Given the description of an element on the screen output the (x, y) to click on. 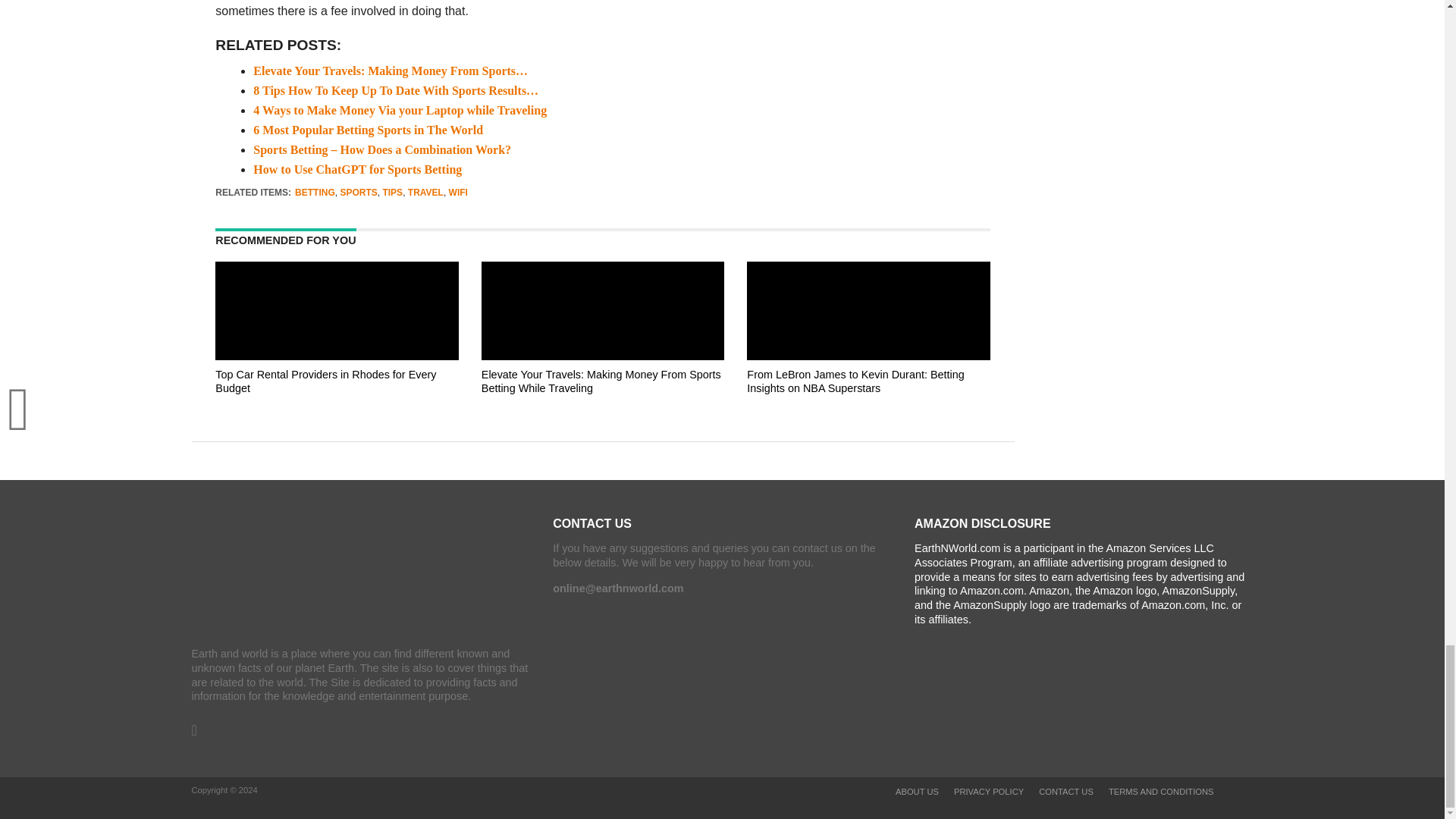
TIPS (392, 192)
6 Most Popular Betting Sports in The World (368, 129)
Top Car Rental Providers in Rhodes for Every Budget (325, 381)
WIFI (457, 192)
SPORTS (358, 192)
BETTING (314, 192)
Top Car Rental Providers in Rhodes for Every Budget (336, 402)
